Given the description of an element on the screen output the (x, y) to click on. 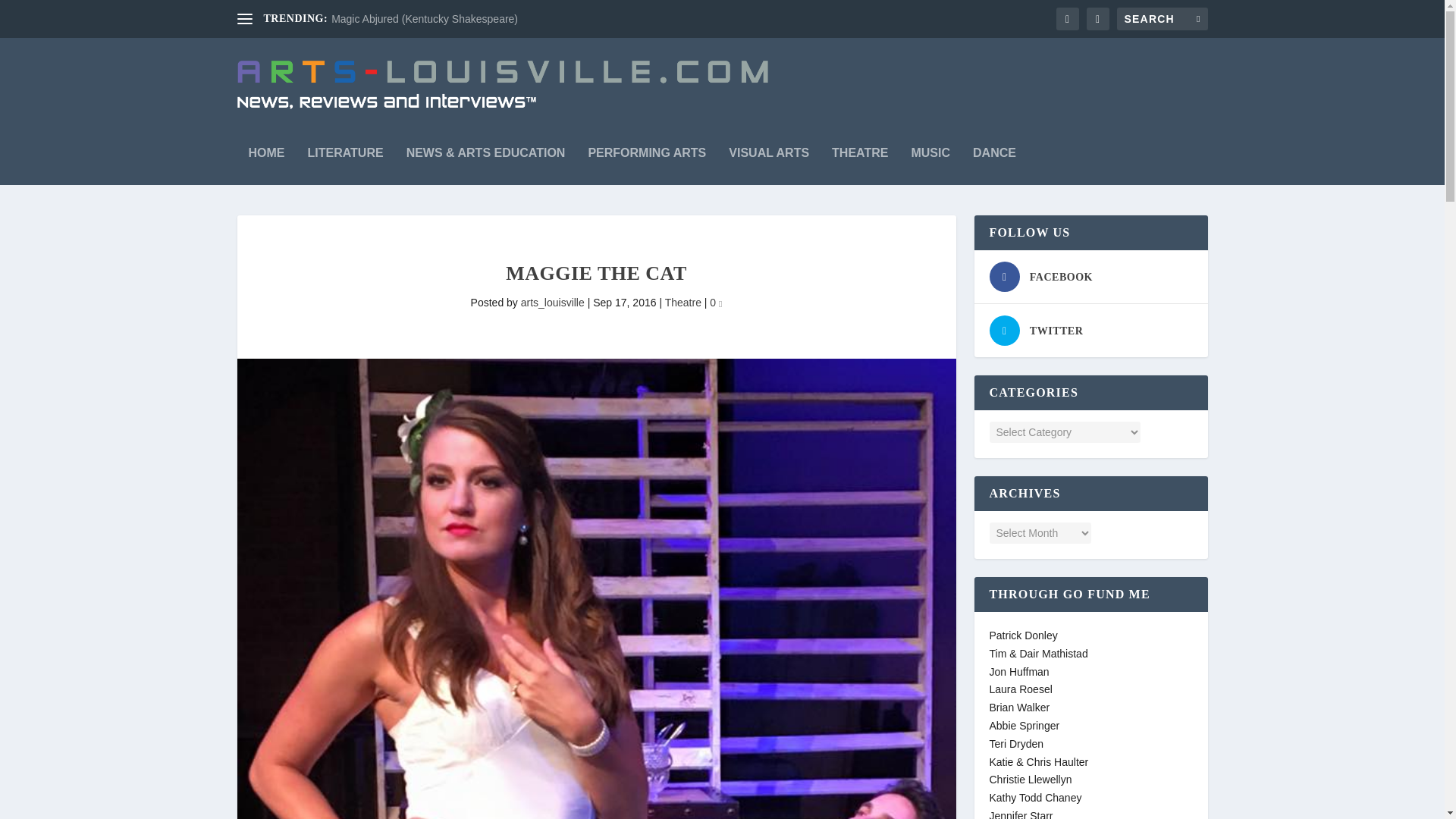
Search for: (1161, 18)
PERFORMING ARTS (647, 158)
VISUAL ARTS (769, 158)
LITERATURE (345, 158)
THEATRE (859, 158)
